Given the description of an element on the screen output the (x, y) to click on. 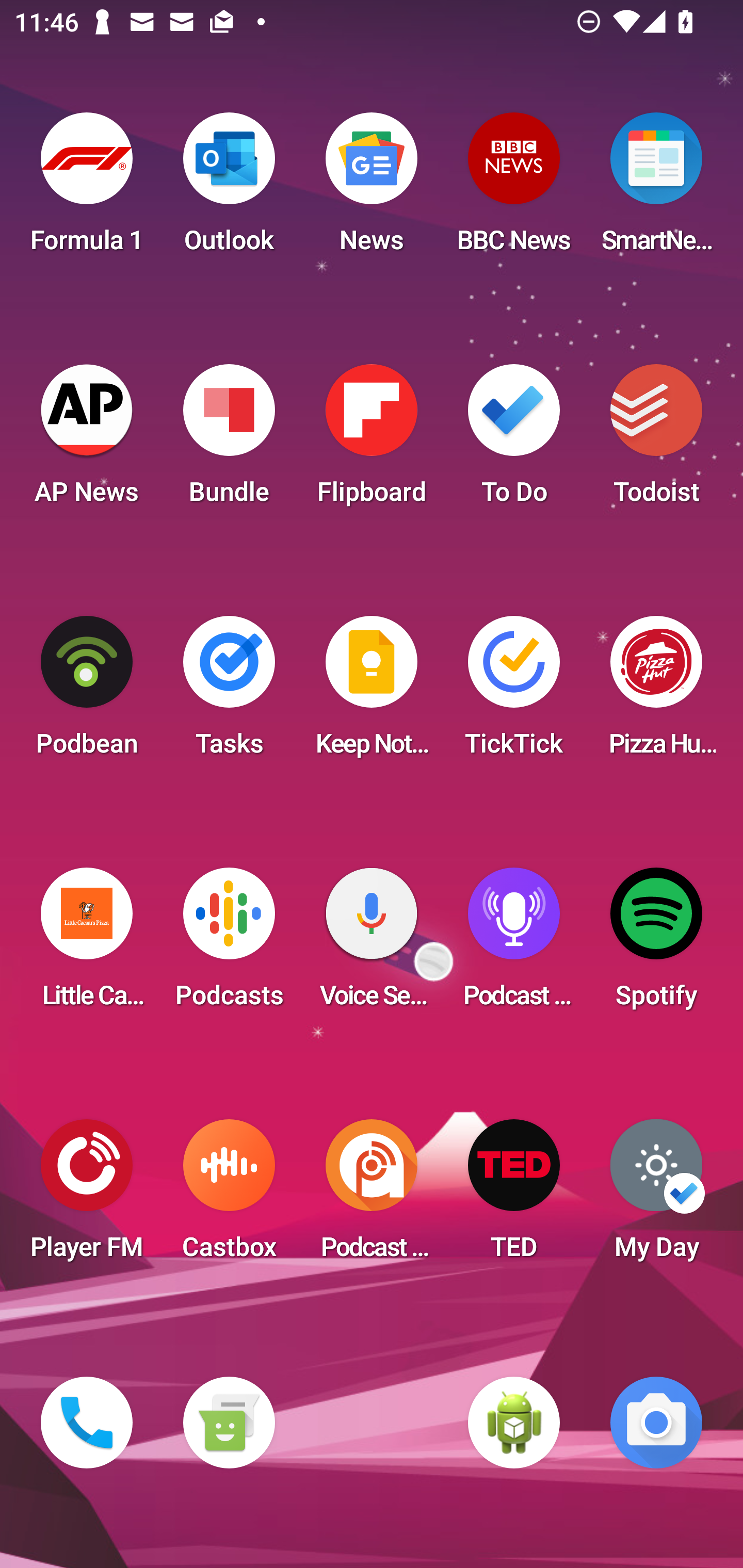
Formula 1 (86, 188)
Outlook (228, 188)
News (371, 188)
BBC News (513, 188)
SmartNews (656, 188)
AP News (86, 440)
Bundle (228, 440)
Flipboard (371, 440)
To Do (513, 440)
Todoist (656, 440)
Podbean (86, 692)
Tasks (228, 692)
Keep Notes (371, 692)
TickTick (513, 692)
Pizza Hut HK & Macau (656, 692)
Little Caesars Pizza (86, 943)
Podcasts (228, 943)
Voice Search (371, 943)
Podcast Player (513, 943)
Spotify (656, 943)
Player FM (86, 1195)
Castbox (228, 1195)
Podcast Addict (371, 1195)
TED (513, 1195)
My Day (656, 1195)
Phone (86, 1422)
Messaging (228, 1422)
WebView Browser Tester (513, 1422)
Camera (656, 1422)
